Given the description of an element on the screen output the (x, y) to click on. 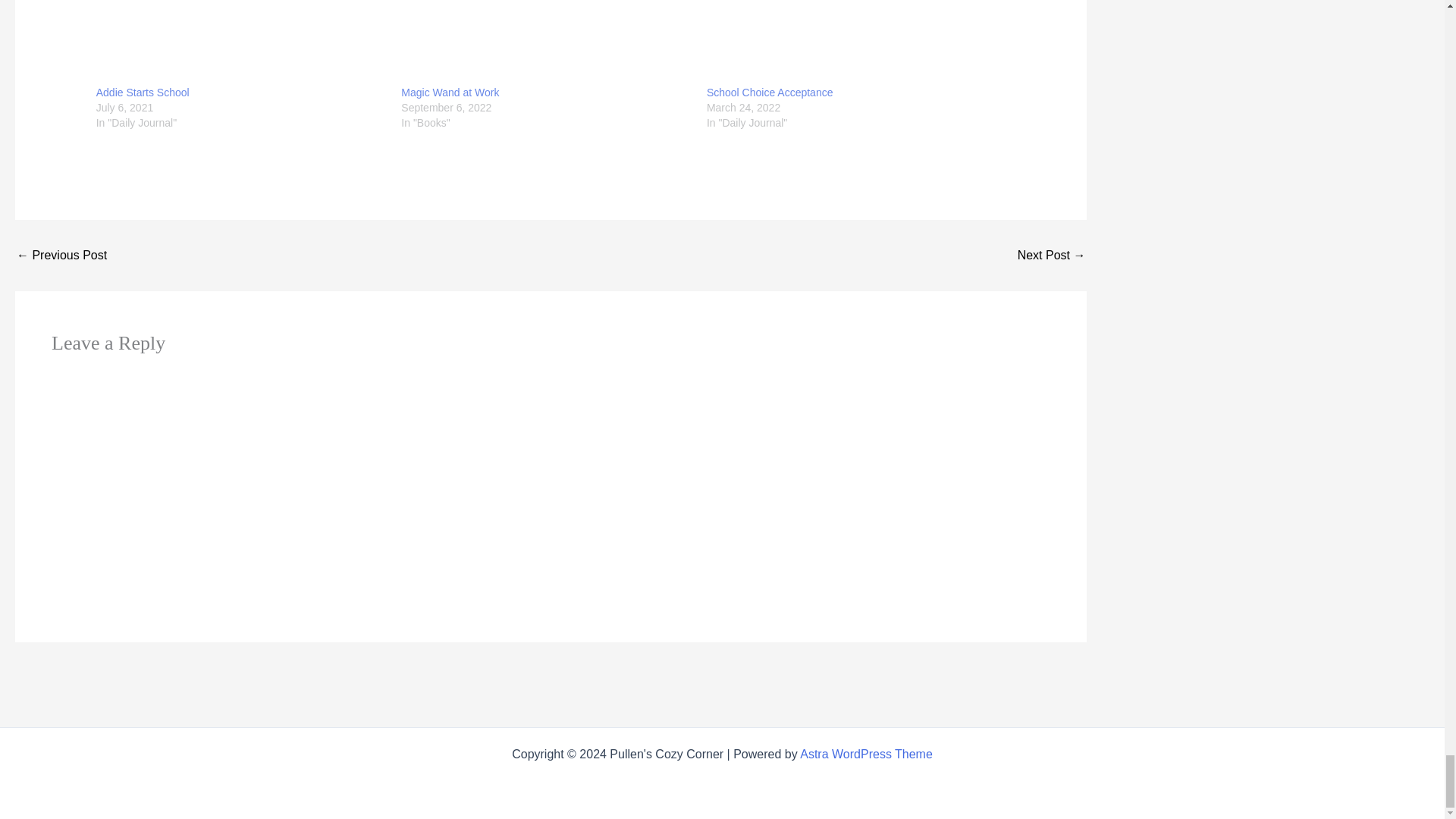
Addie Starts School (142, 92)
Magic Wand at Work (546, 42)
Addie Starts School (241, 42)
Magic Wand at Work (450, 92)
School Choice Acceptance (769, 92)
Addie Starts School (142, 92)
School Choice Acceptance (851, 42)
Magic Wand at Work (450, 92)
